Given the description of an element on the screen output the (x, y) to click on. 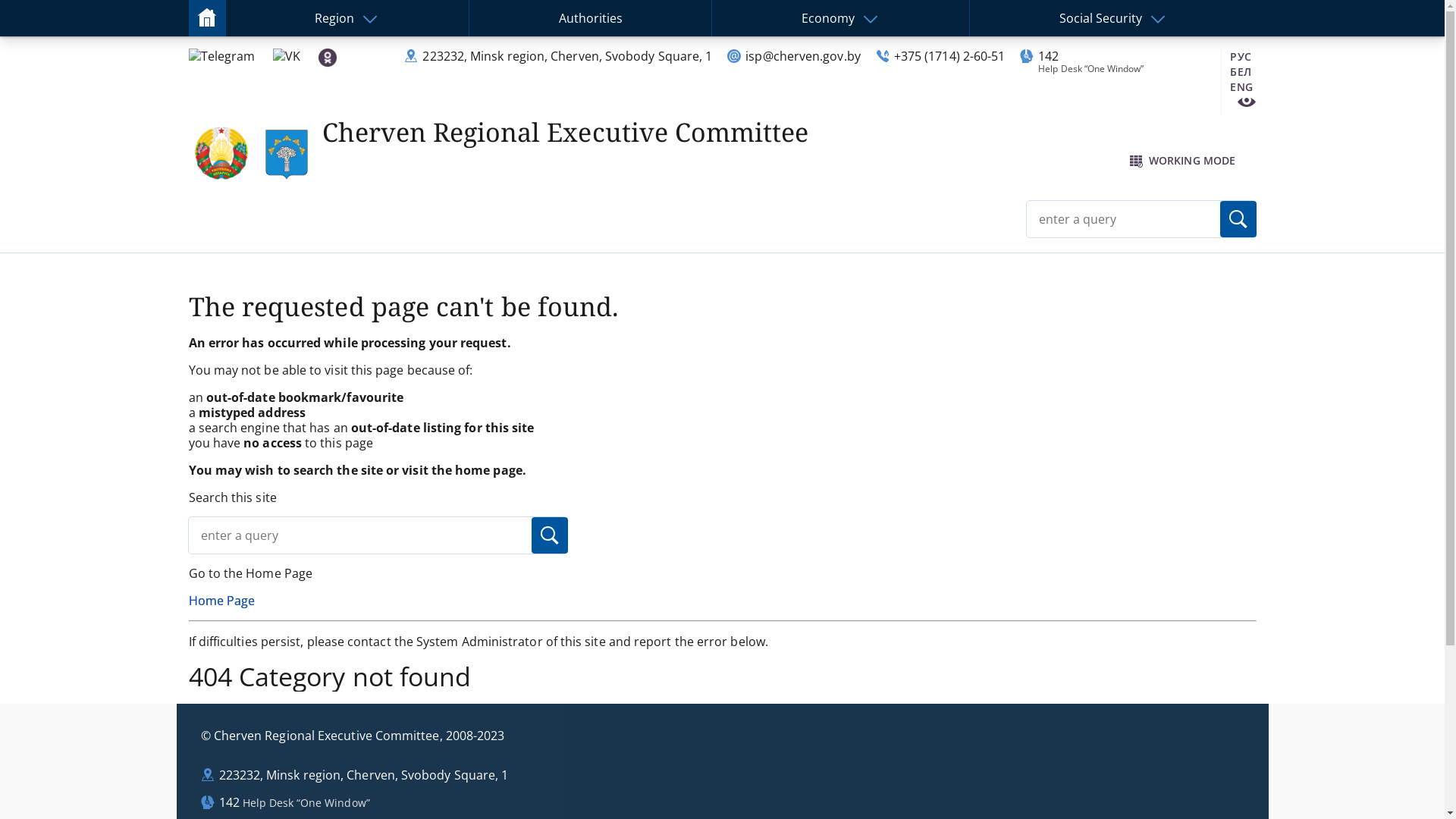
Social Security Element type: text (1100, 17)
VK Element type: hover (286, 55)
142 Element type: text (1048, 55)
+375 (1714) 2-60-51 Element type: text (949, 55)
Telegram Element type: hover (221, 55)
Cherven Regional Executive Committee Element type: text (564, 131)
Search Element type: text (548, 535)
142 Element type: text (228, 801)
Authorities Element type: text (590, 17)
Region Element type: text (334, 17)
isp@cherven.gov.by Element type: text (802, 55)
223232, Minsk region, Cherven, Svobody Square, 1 Element type: text (363, 774)
Home Element type: text (206, 17)
Home Page Element type: text (221, 600)
Economy Element type: text (827, 17)
ENG Element type: text (1241, 86)
223232, Minsk region, Cherven, Svobody Square, 1 Element type: text (567, 55)
Search Element type: text (1237, 218)
